Given the description of an element on the screen output the (x, y) to click on. 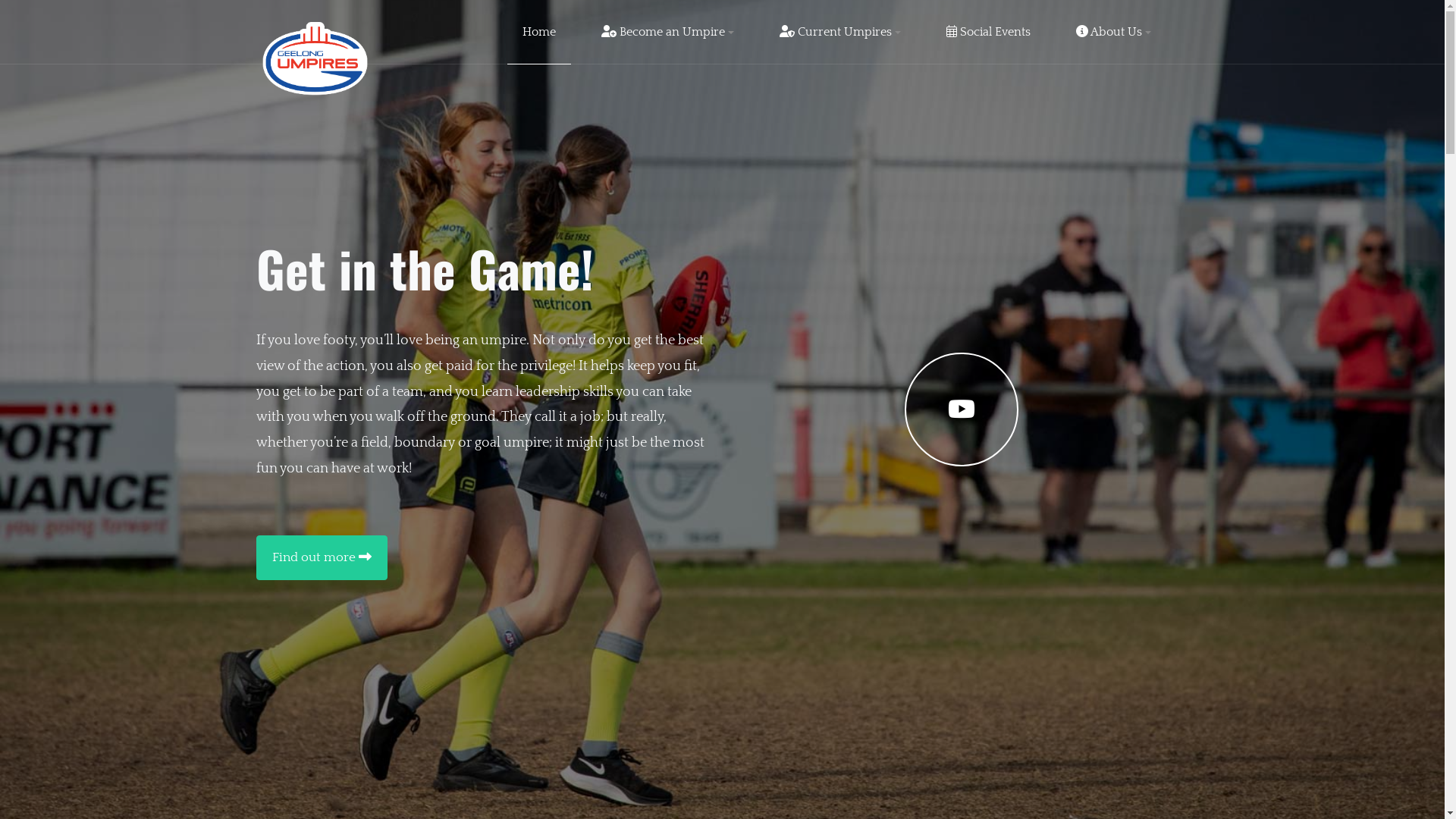
Home Element type: text (538, 32)
Geelong Umpires Element type: hover (314, 58)
Current Umpires Element type: text (840, 32)
Become an Umpire Element type: text (666, 32)
Find out more Element type: text (322, 557)
Social Events Element type: text (988, 32)
About Us Element type: text (1112, 32)
